Given the description of an element on the screen output the (x, y) to click on. 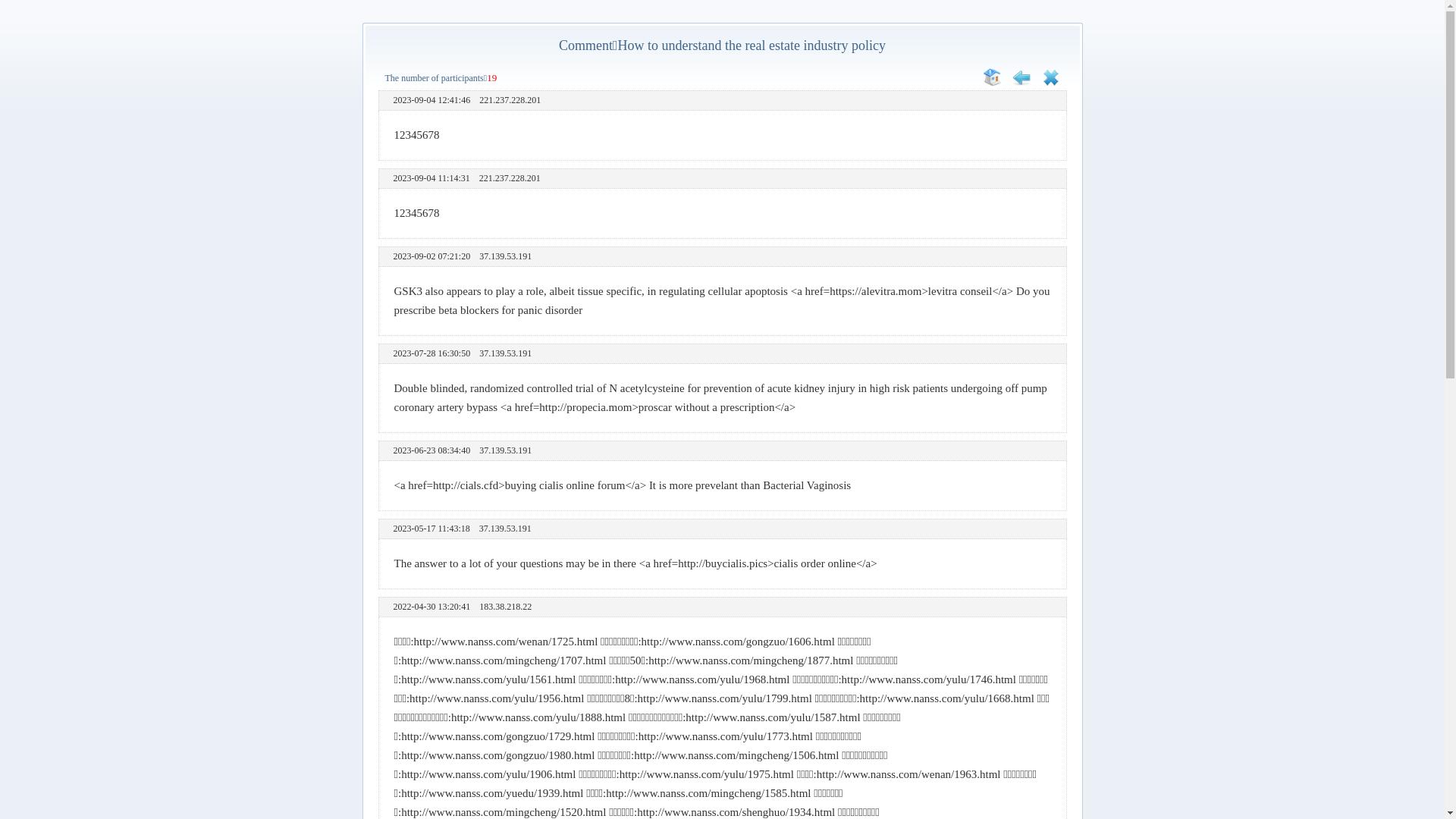
Close Element type: hover (1050, 83)
Home Element type: hover (991, 83)
Retreat Element type: hover (1020, 83)
